Given the description of an element on the screen output the (x, y) to click on. 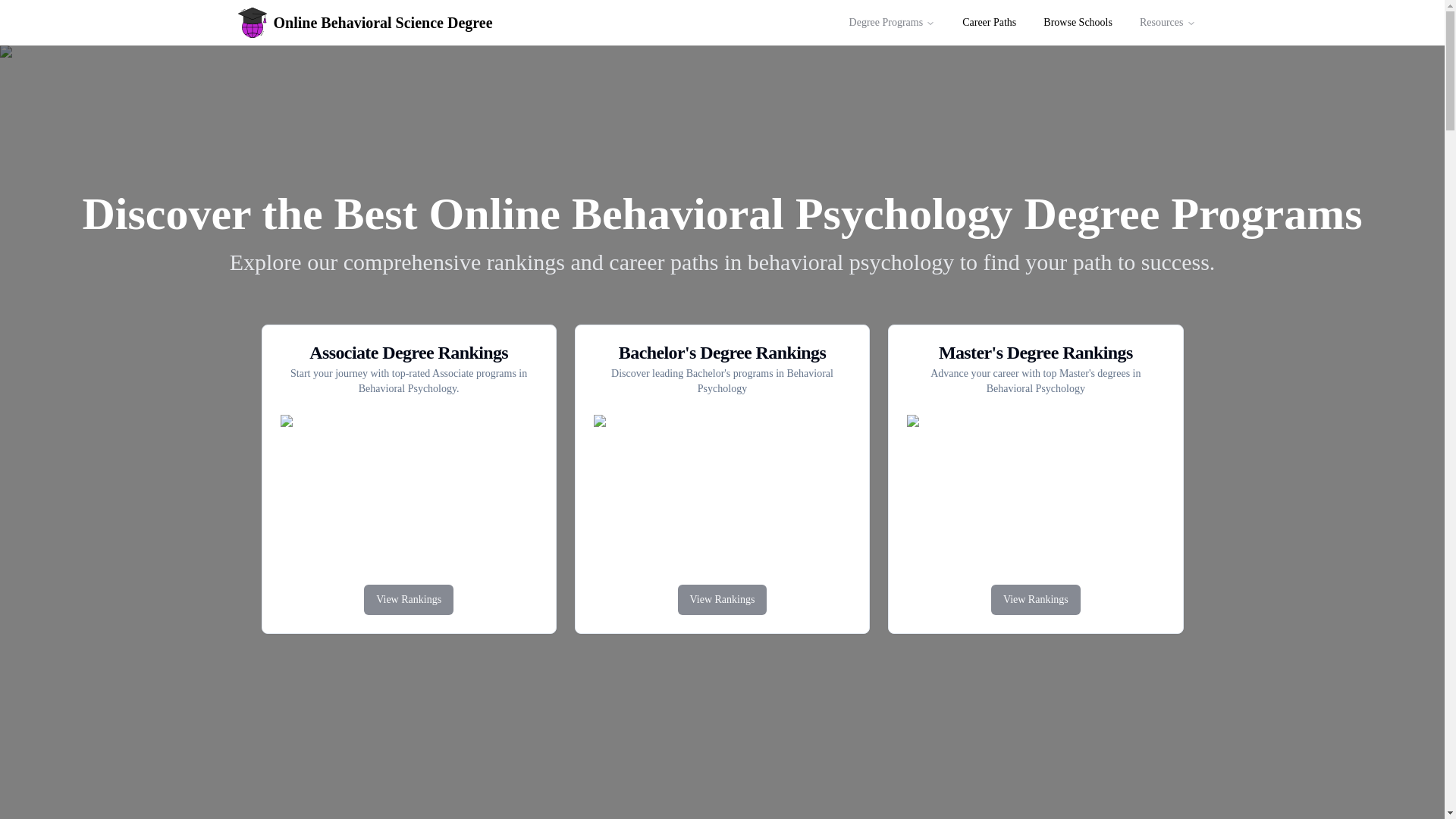
View Rankings (1035, 599)
View Rankings (722, 599)
Master's Degree Rankings (1035, 352)
Browse Schools (1077, 22)
Resources (1167, 22)
Online Behavioral Science Degree (378, 22)
Associate Degree Rankings (409, 352)
View Rankings (1035, 599)
Career Paths (988, 22)
View Rankings (408, 599)
